Given the description of an element on the screen output the (x, y) to click on. 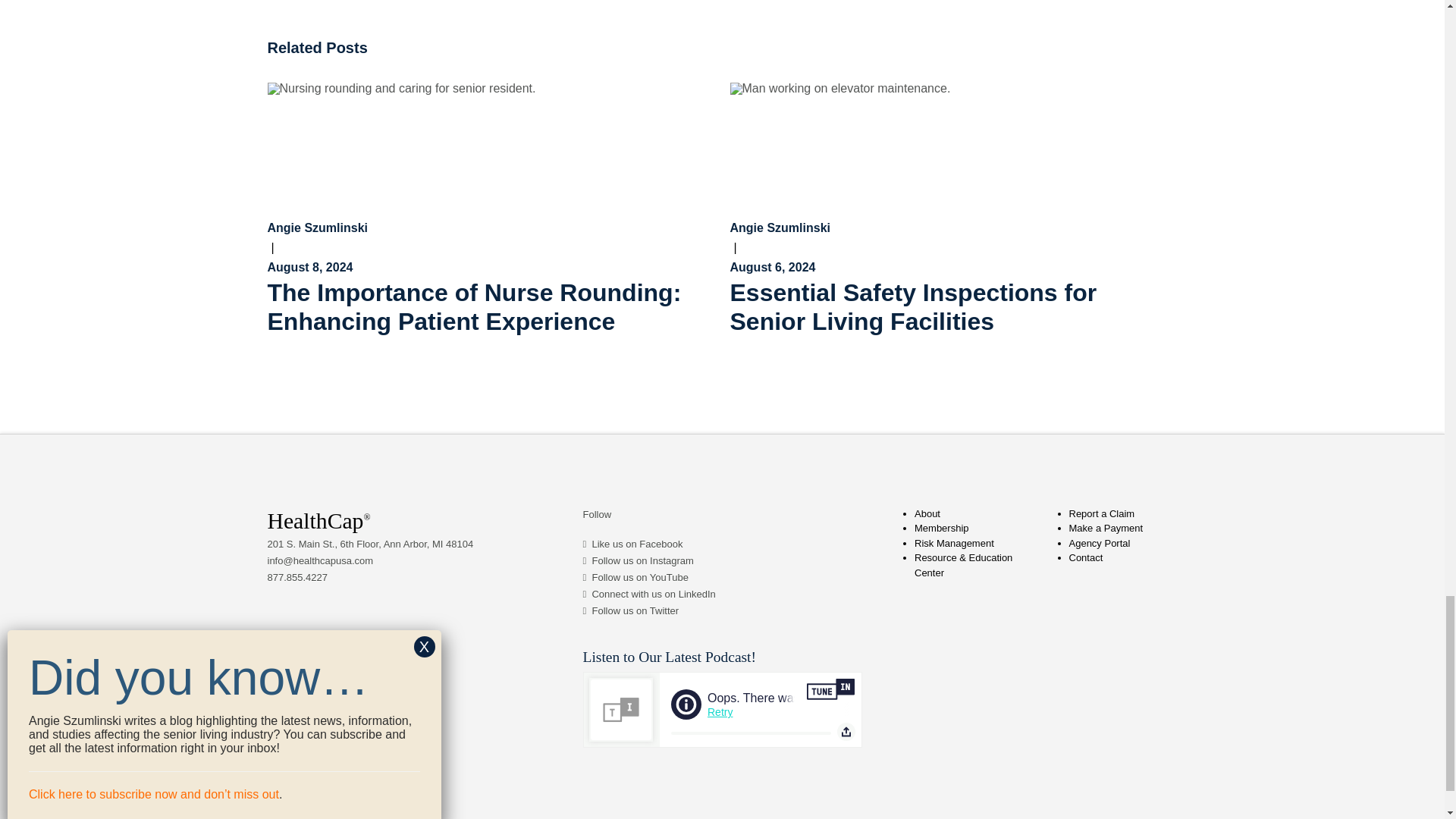
Report a Claim (1101, 513)
Risk Management (954, 542)
Make a Payment (1105, 527)
Follow us on Instagram (642, 560)
Follow us on YouTube (639, 577)
Like us on Facebook (636, 543)
Follow us on Twitter (634, 610)
Membership (941, 527)
Contact (1085, 557)
Connect with us on LinkedIn (652, 593)
